Given the description of an element on the screen output the (x, y) to click on. 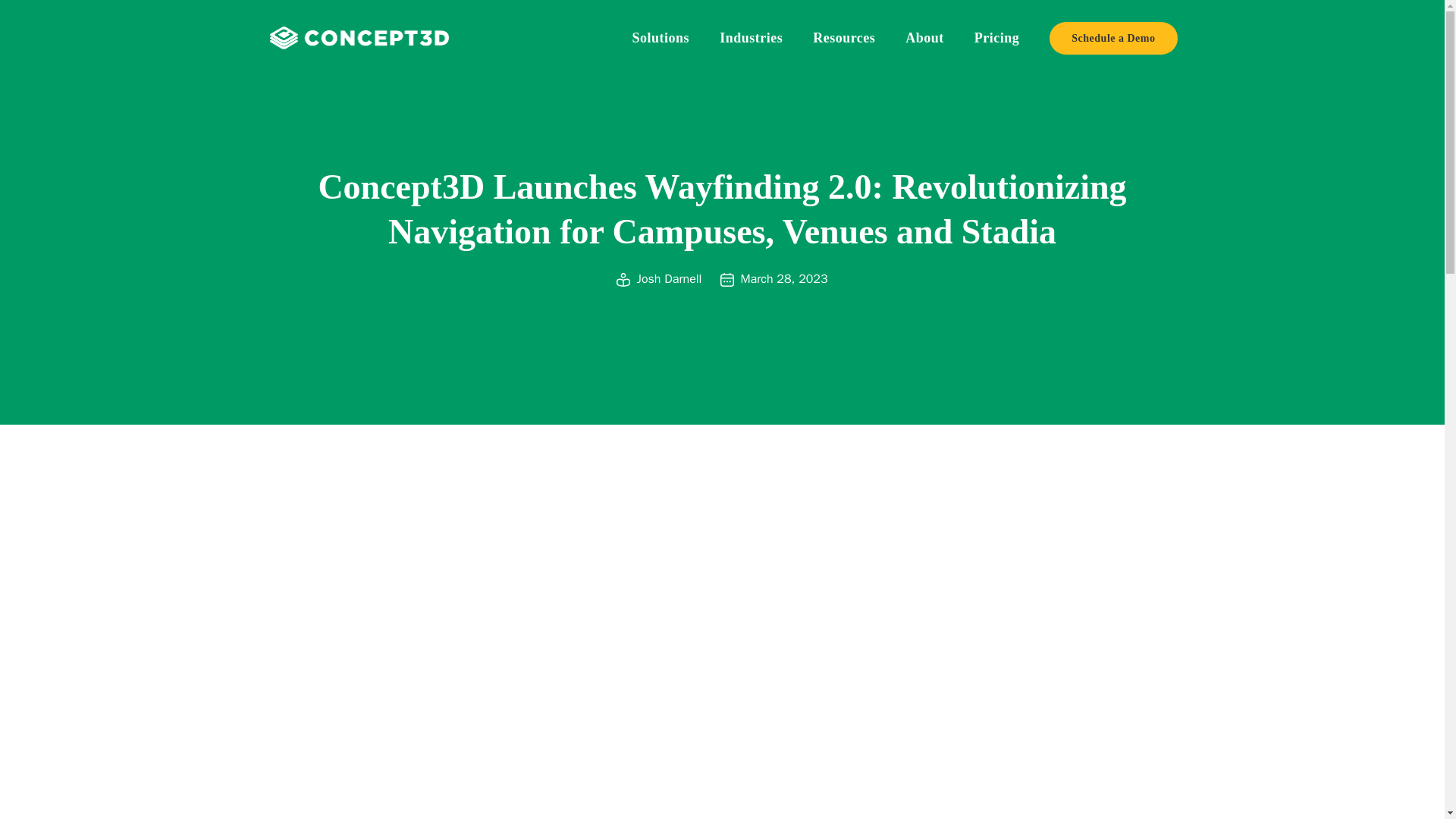
About (924, 37)
Resources (843, 37)
Industries (751, 37)
Pricing (997, 37)
Solutions (660, 37)
